Given the description of an element on the screen output the (x, y) to click on. 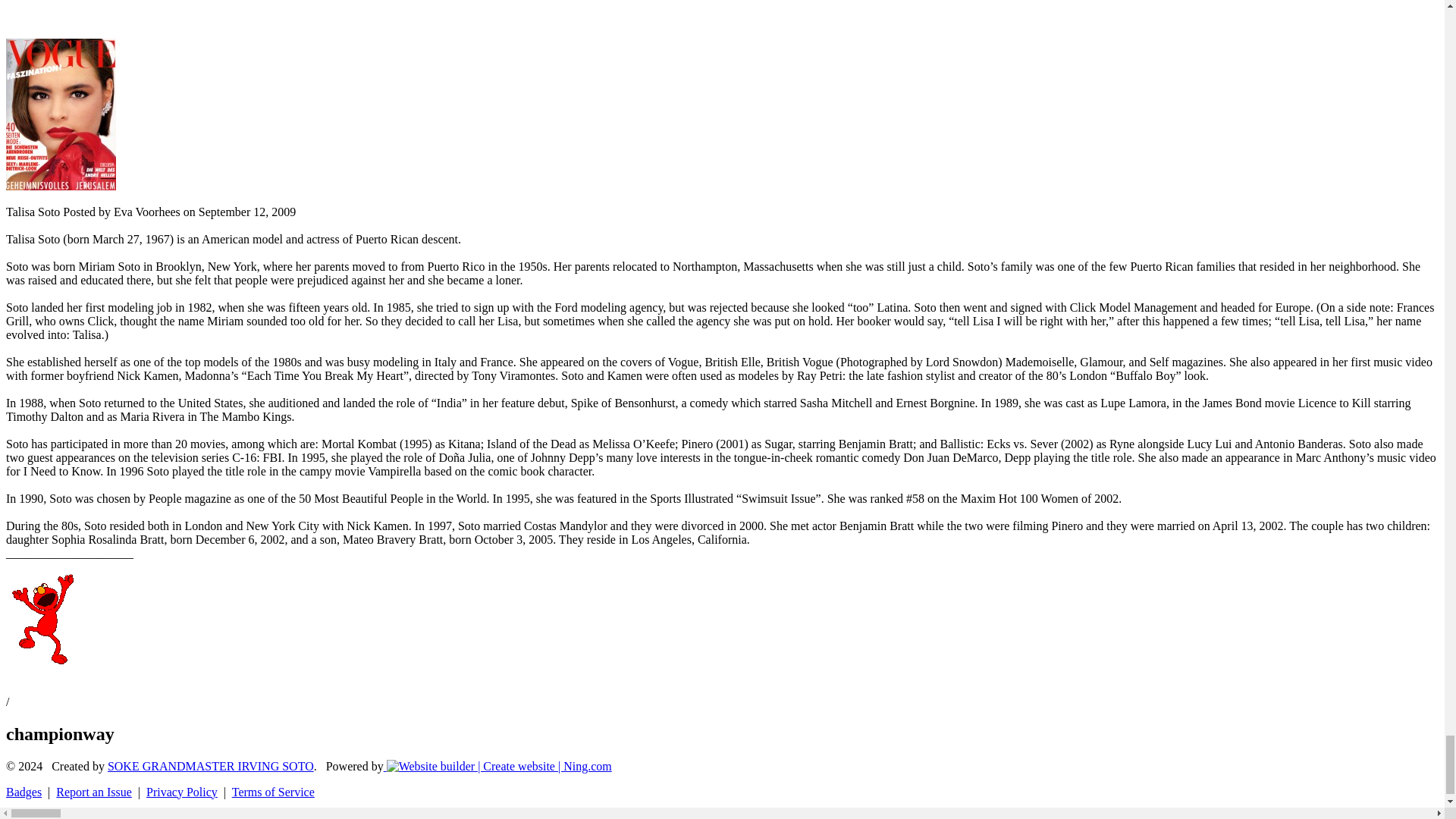
Animated Pictures Myspace Comments (39, 660)
Ning Website Builder (499, 766)
